Given the description of an element on the screen output the (x, y) to click on. 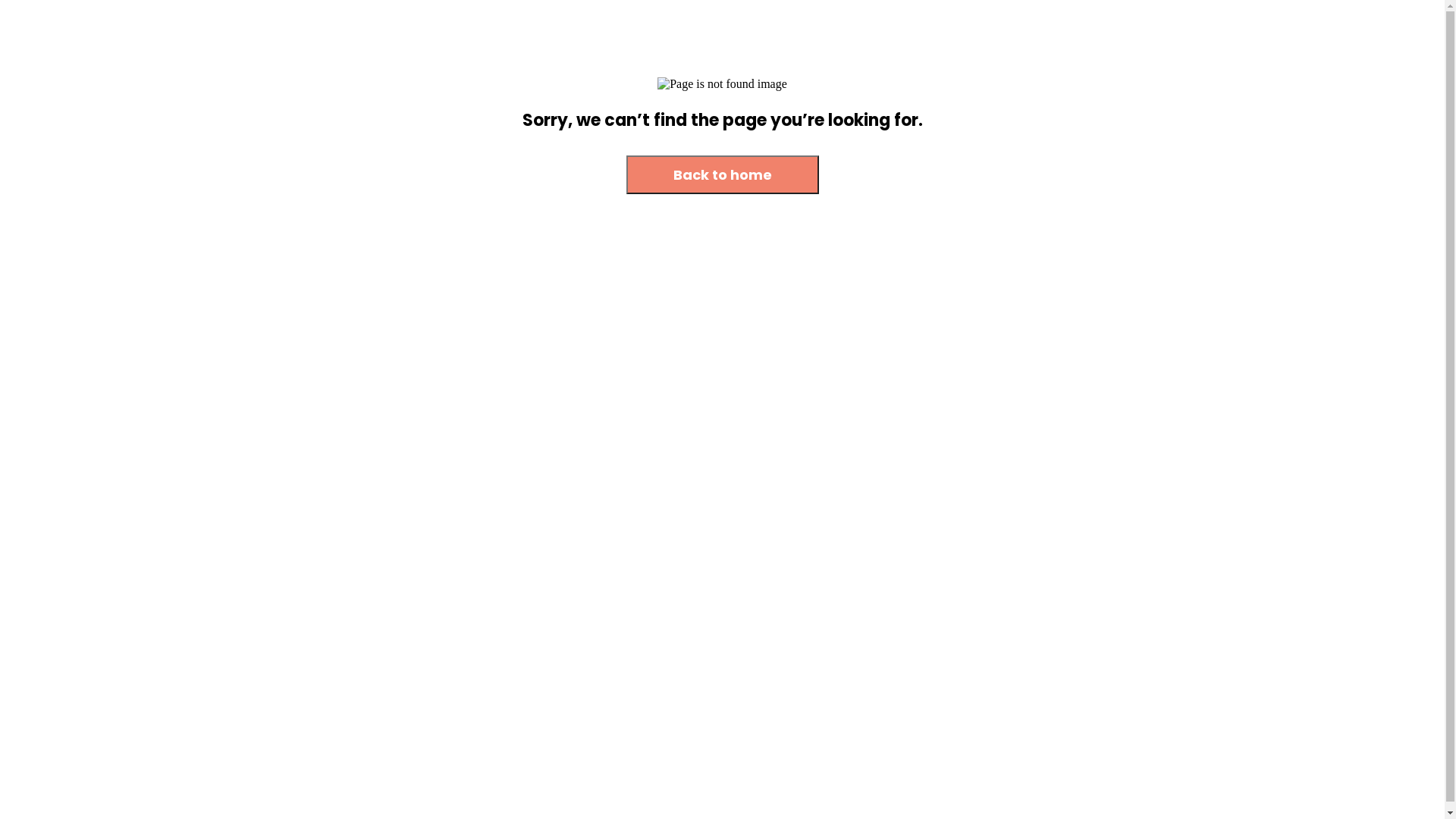
Back to home Element type: text (722, 174)
Back to home Element type: text (722, 175)
